Given the description of an element on the screen output the (x, y) to click on. 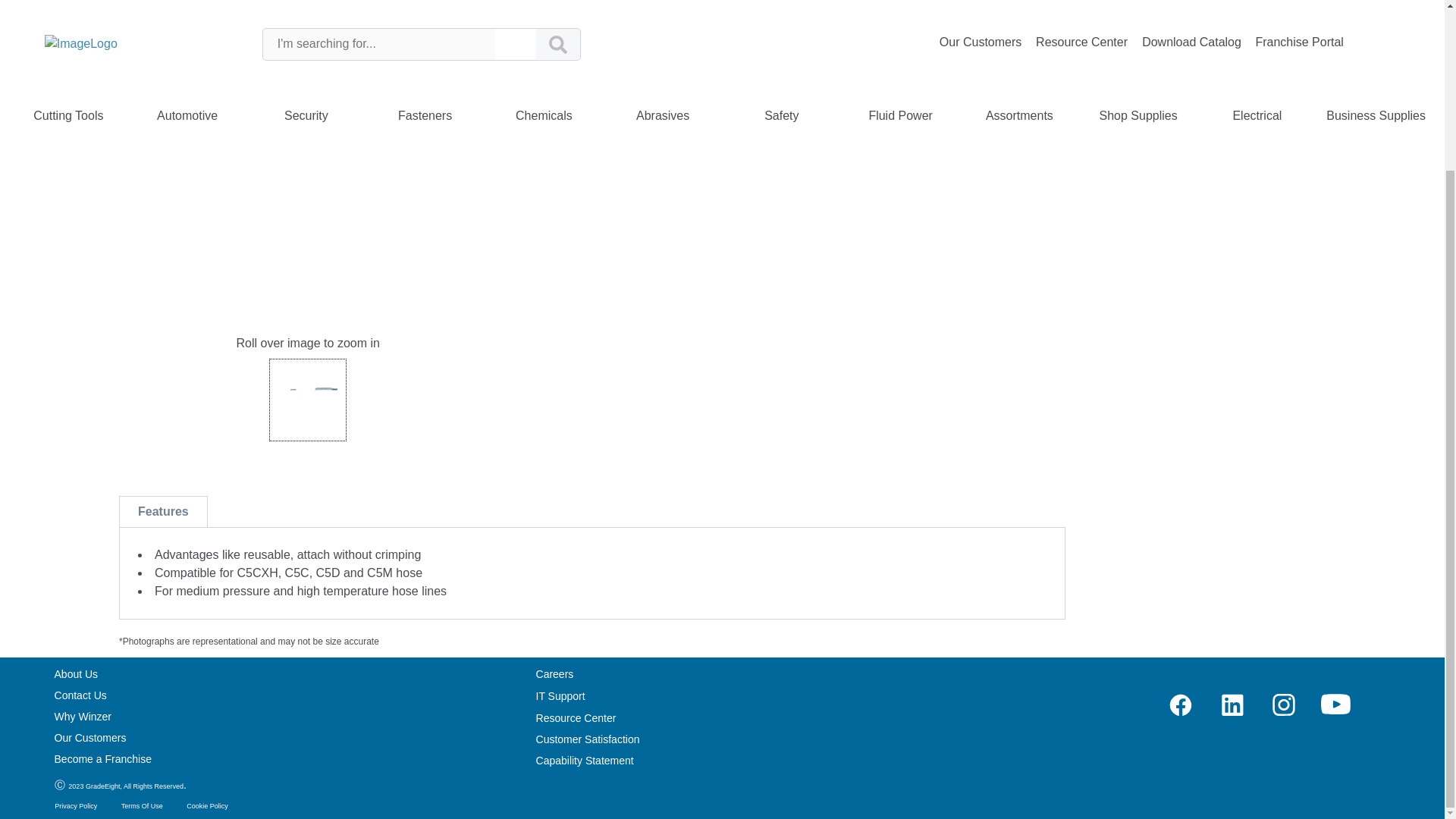
Capability Statement (584, 760)
instagram (1283, 704)
Terms Of Use (141, 805)
Privacy Policy (76, 805)
Resource Center (575, 717)
linkedIn (1232, 704)
Contact Us (80, 695)
Why Winzer (83, 716)
Capability Statement (584, 760)
Careers (554, 674)
Become a Franchise (103, 758)
Privacy Policy (76, 805)
Why Winzer (83, 716)
Careers (554, 674)
IT Support (560, 695)
